Given the description of an element on the screen output the (x, y) to click on. 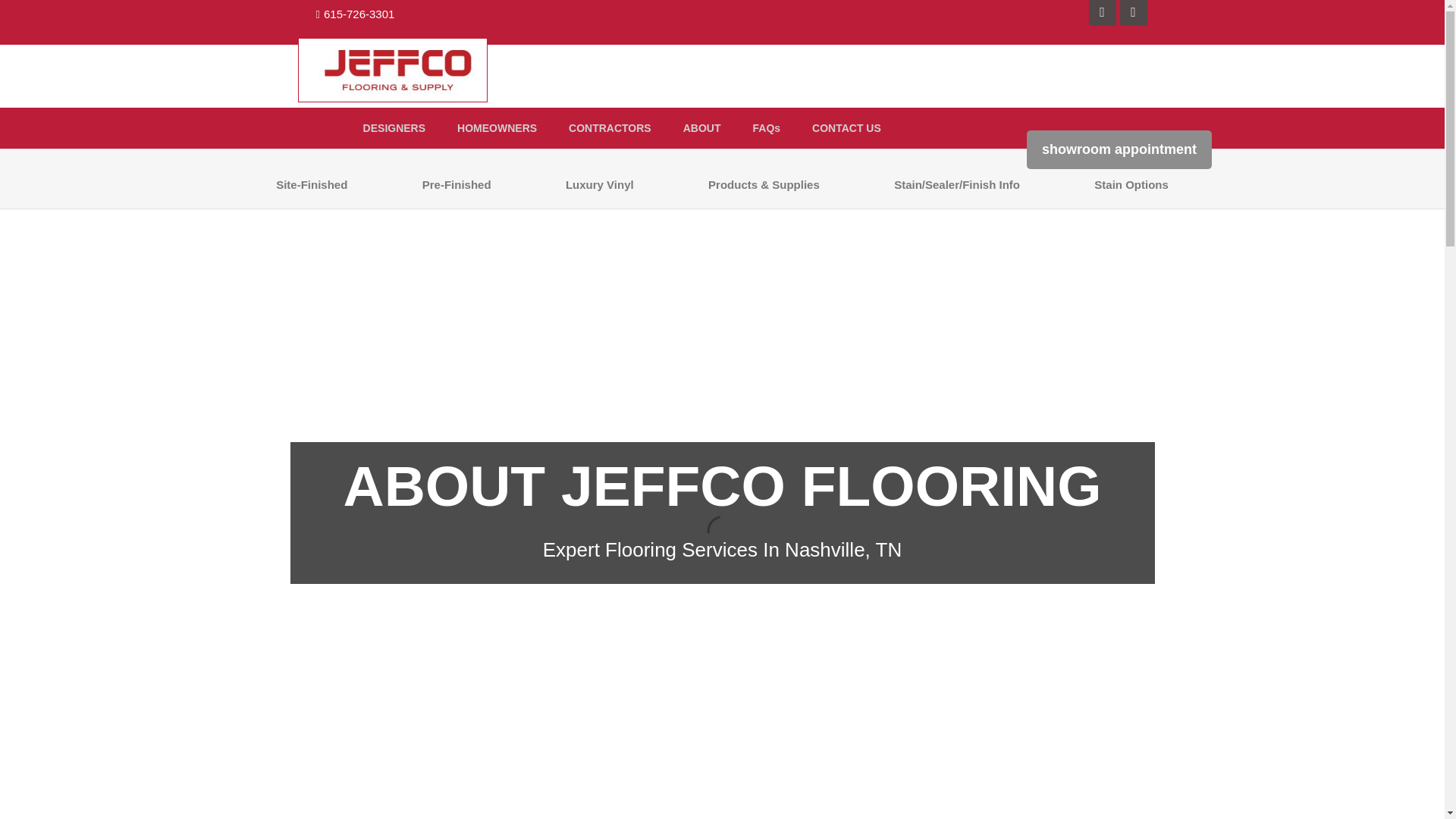
ABOUT (702, 127)
Site-Finished (311, 184)
CONTRACTORS (609, 127)
Stain Options (1131, 184)
FAQs (765, 127)
Pre-Finished (456, 184)
showroom appointment (1118, 149)
DESIGNERS (394, 127)
Luxury Vinyl (599, 184)
HOMEOWNERS (496, 127)
615-726-3301 (354, 14)
CONTACT US (846, 127)
